Given the description of an element on the screen output the (x, y) to click on. 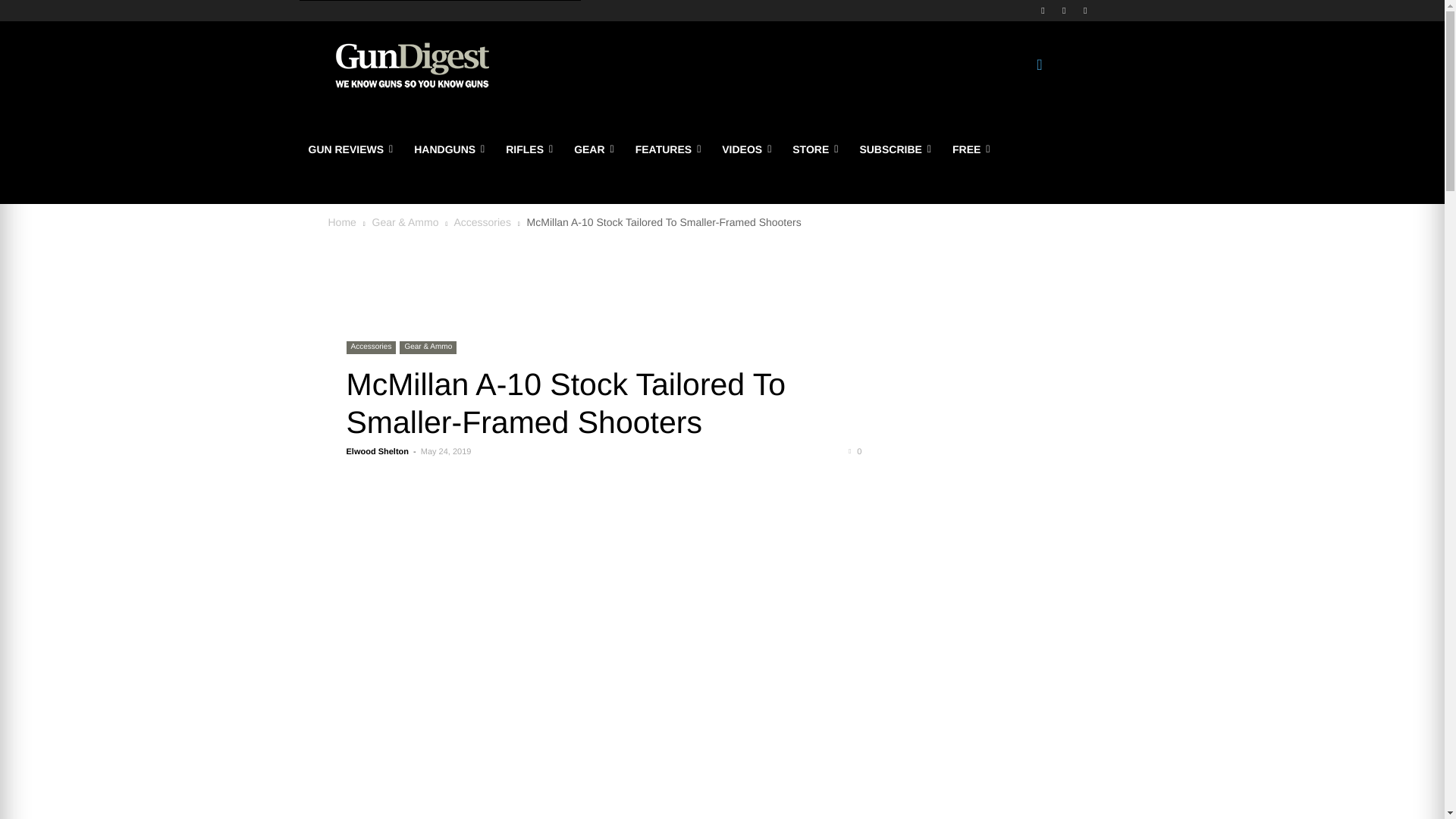
McMillan A-10 Stock Tailored To Smaller-Framed Shooters (566, 402)
Facebook (1042, 9)
View all posts in Accessories (481, 222)
We know guns so you know guns (411, 64)
We know guns so you know guns (411, 64)
Youtube (1085, 9)
Twitter (1064, 9)
